Given the description of an element on the screen output the (x, y) to click on. 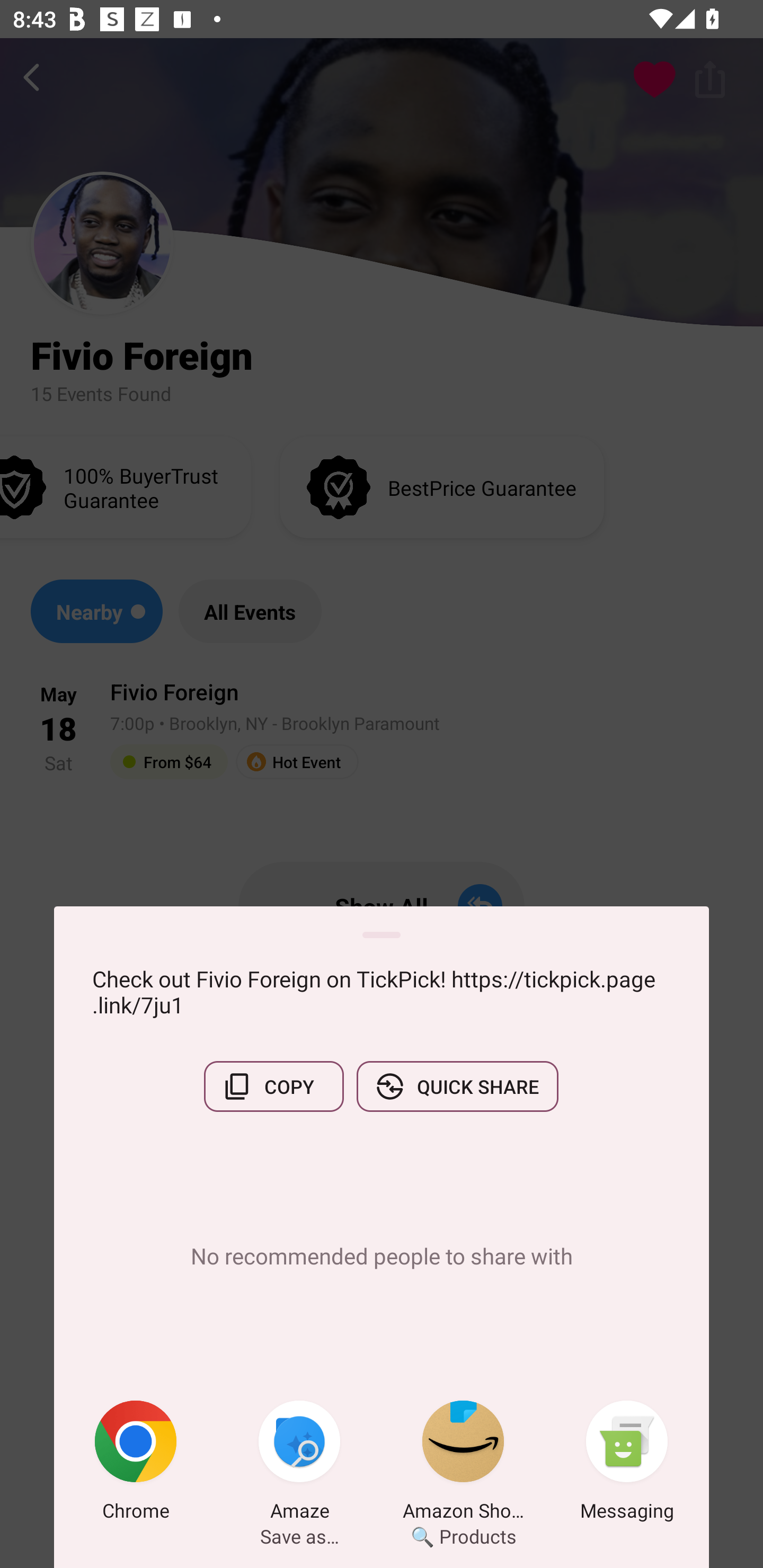
COPY (273, 1086)
QUICK SHARE (457, 1086)
Chrome (135, 1463)
Amaze Save as… (299, 1463)
Amazon Shopping 🔍 Products (463, 1463)
Messaging (626, 1463)
